Given the description of an element on the screen output the (x, y) to click on. 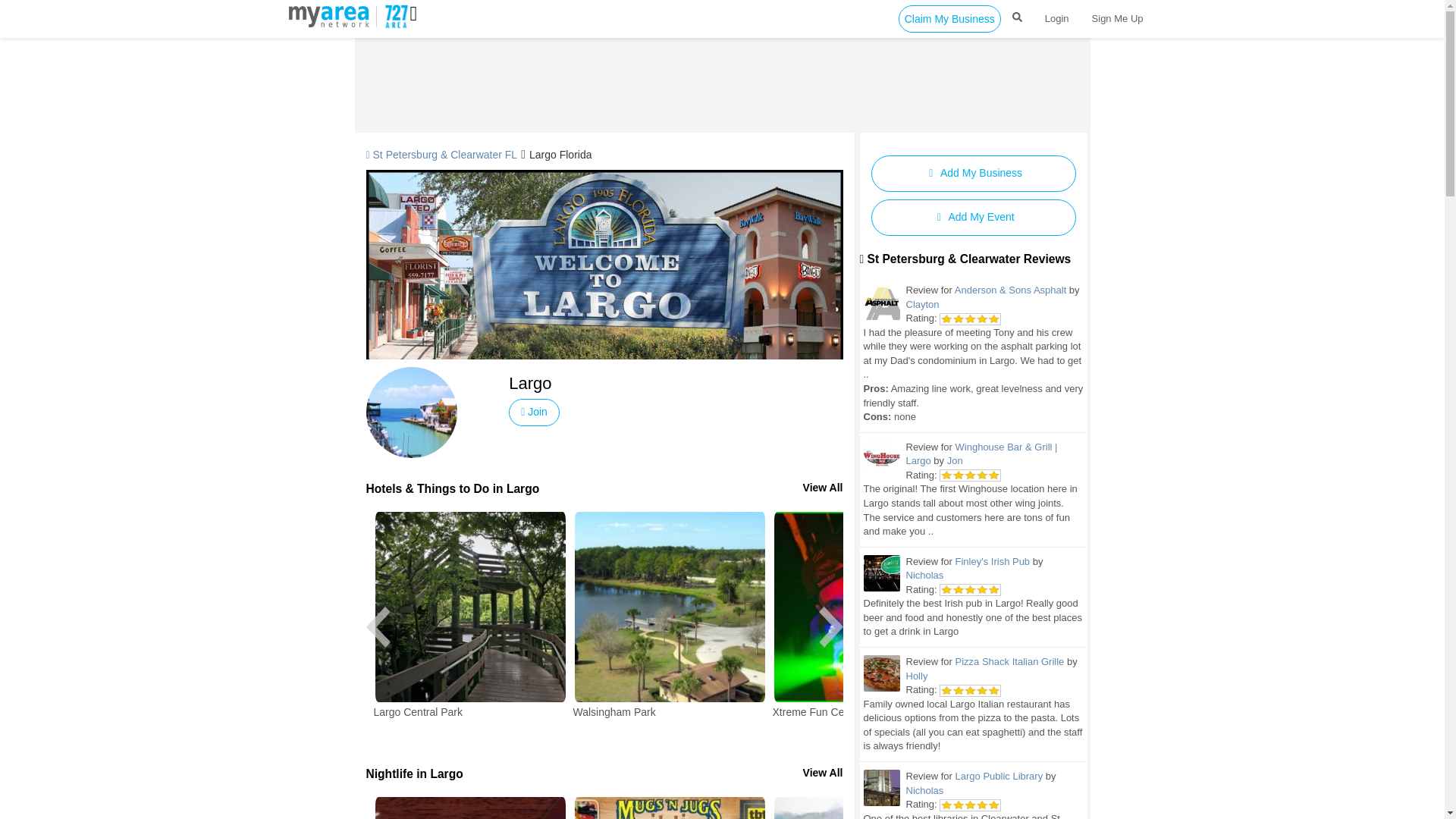
Login (1056, 18)
Claim My Business (949, 18)
Sign Me Up (1117, 18)
Login (1056, 18)
Add My Business (972, 173)
Add My Business (972, 173)
Claim My Business (949, 18)
Add My Event (972, 217)
Sign Me Up (1117, 18)
Add Events (972, 217)
